Given the description of an element on the screen output the (x, y) to click on. 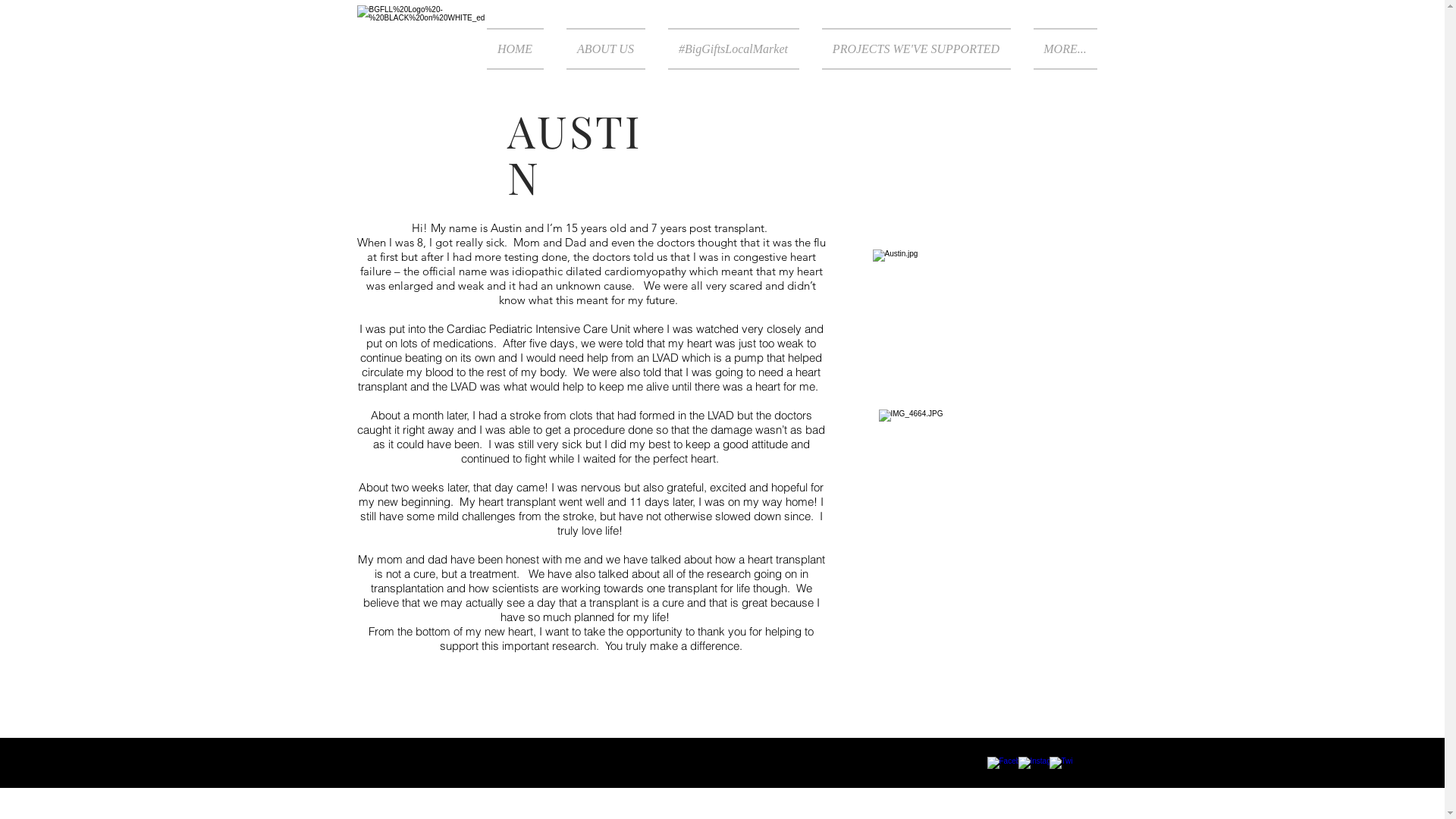
HOME Element type: text (520, 48)
PROJECTS WE'VE SUPPORTED Element type: text (915, 48)
ABOUT US Element type: text (605, 48)
#BigGiftsLocalMarket Element type: text (733, 48)
